Given the description of an element on the screen output the (x, y) to click on. 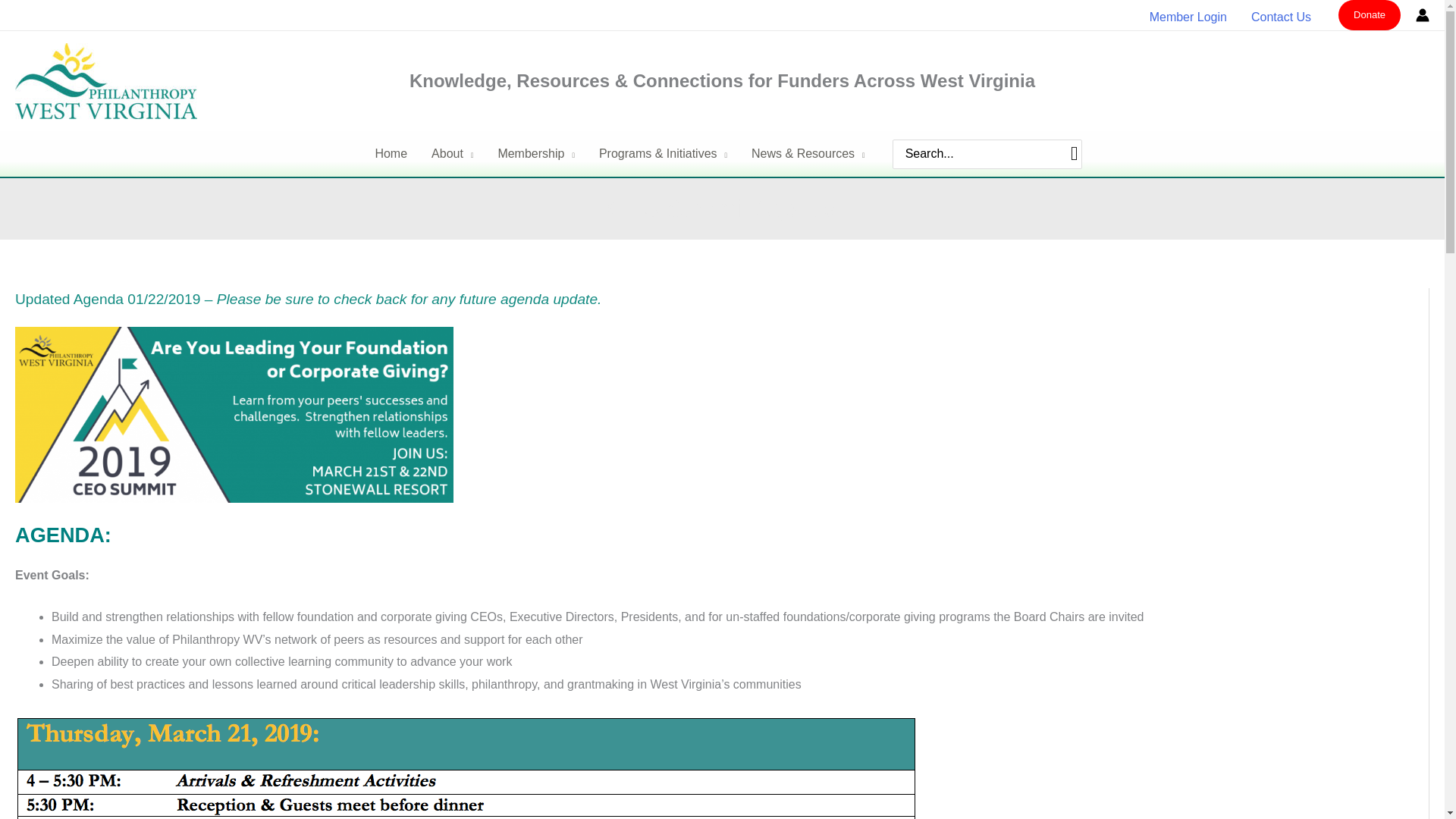
About (451, 153)
Membership (535, 153)
Home (390, 153)
Contact Us (1281, 16)
Member Login (1188, 16)
Donate (1369, 15)
